Given the description of an element on the screen output the (x, y) to click on. 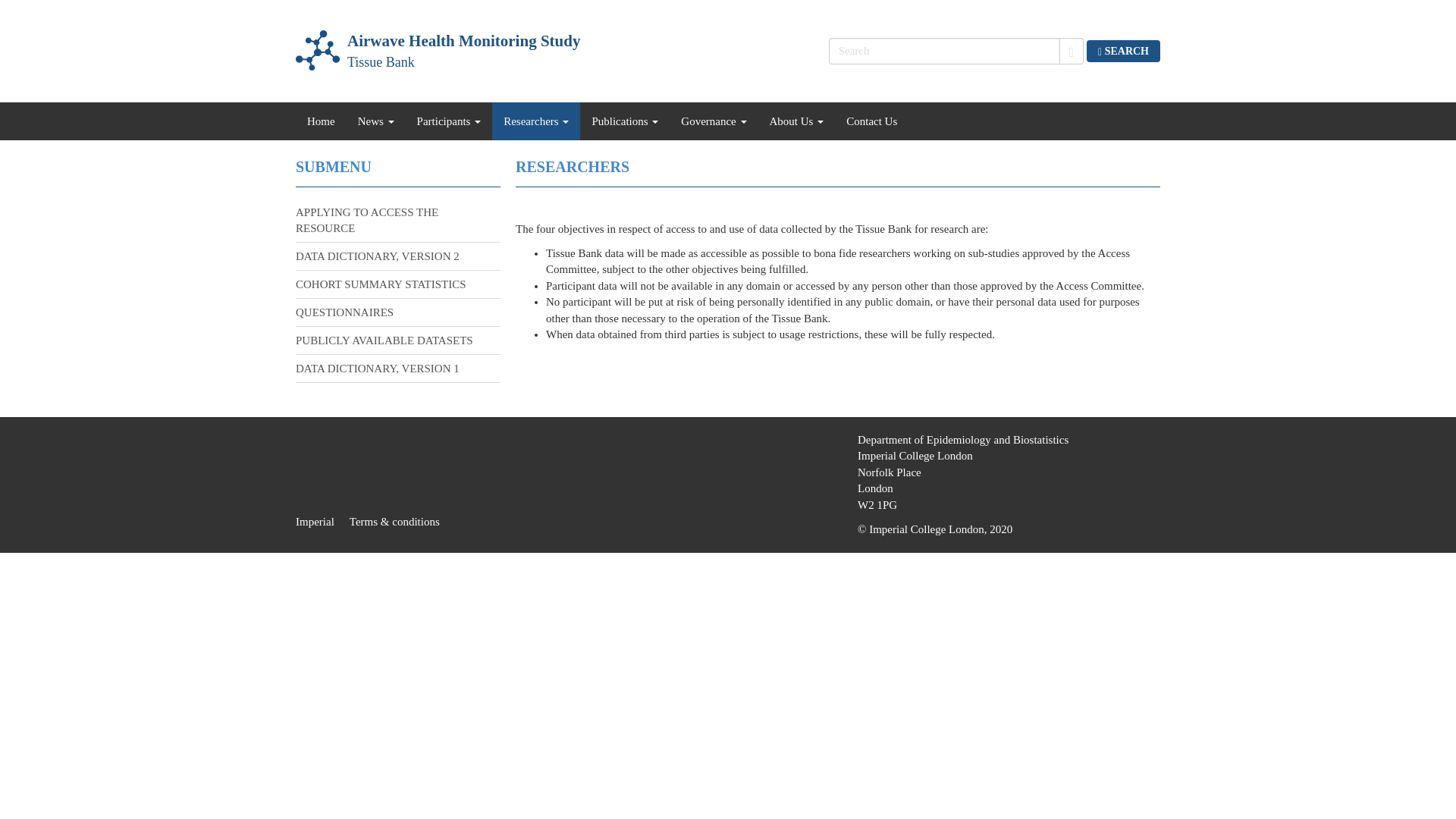
Skip to main content (437, 51)
SEARCH (322, 521)
Home (1123, 50)
